Given the description of an element on the screen output the (x, y) to click on. 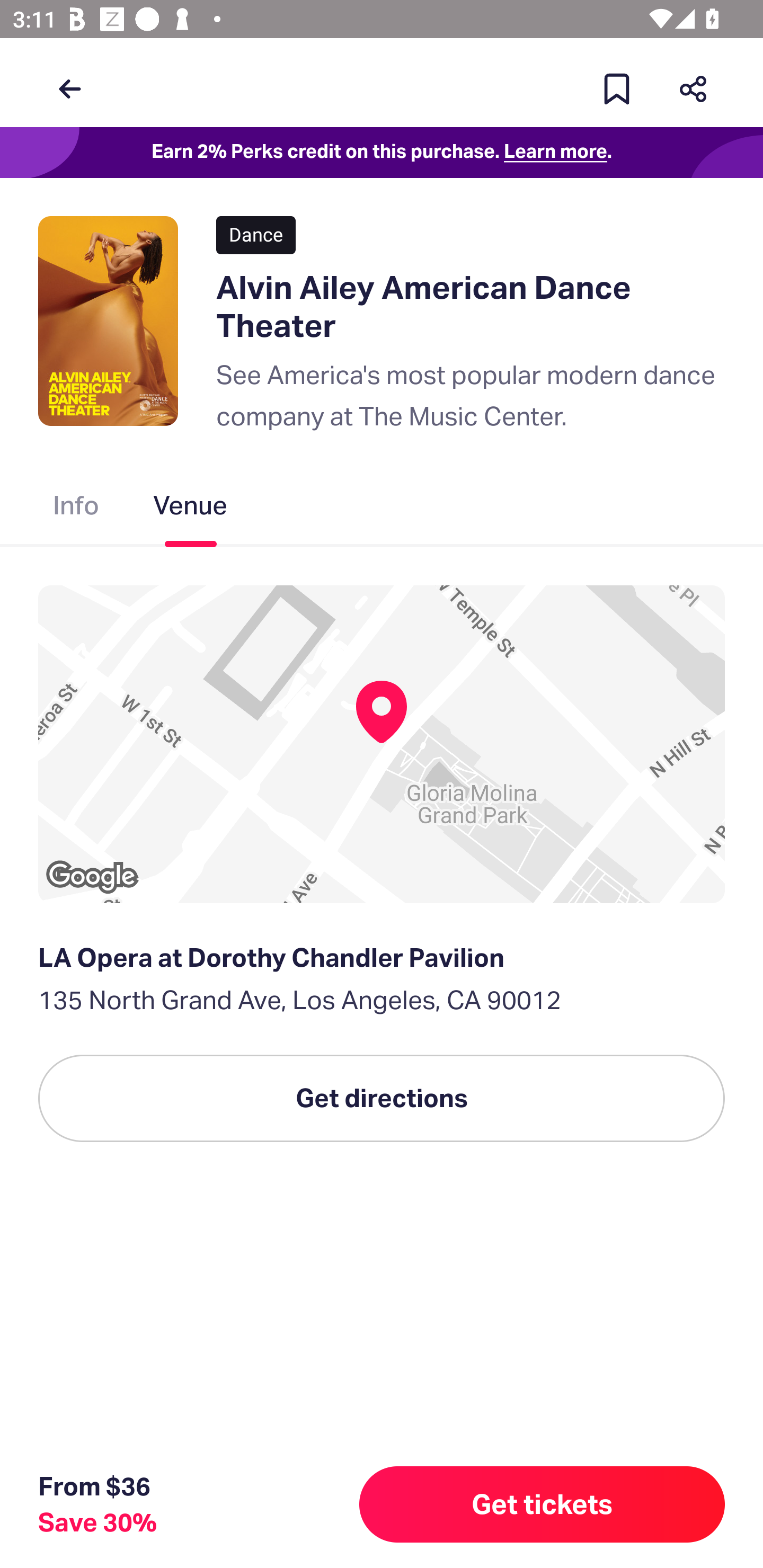
Earn 2% Perks credit on this purchase. Learn more. (381, 152)
Info (76, 508)
Google Map LA Opera at Dorothy Chandler Pavilion.  (381, 743)
Get directions (381, 1098)
Get tickets (541, 1504)
